Given the description of an element on the screen output the (x, y) to click on. 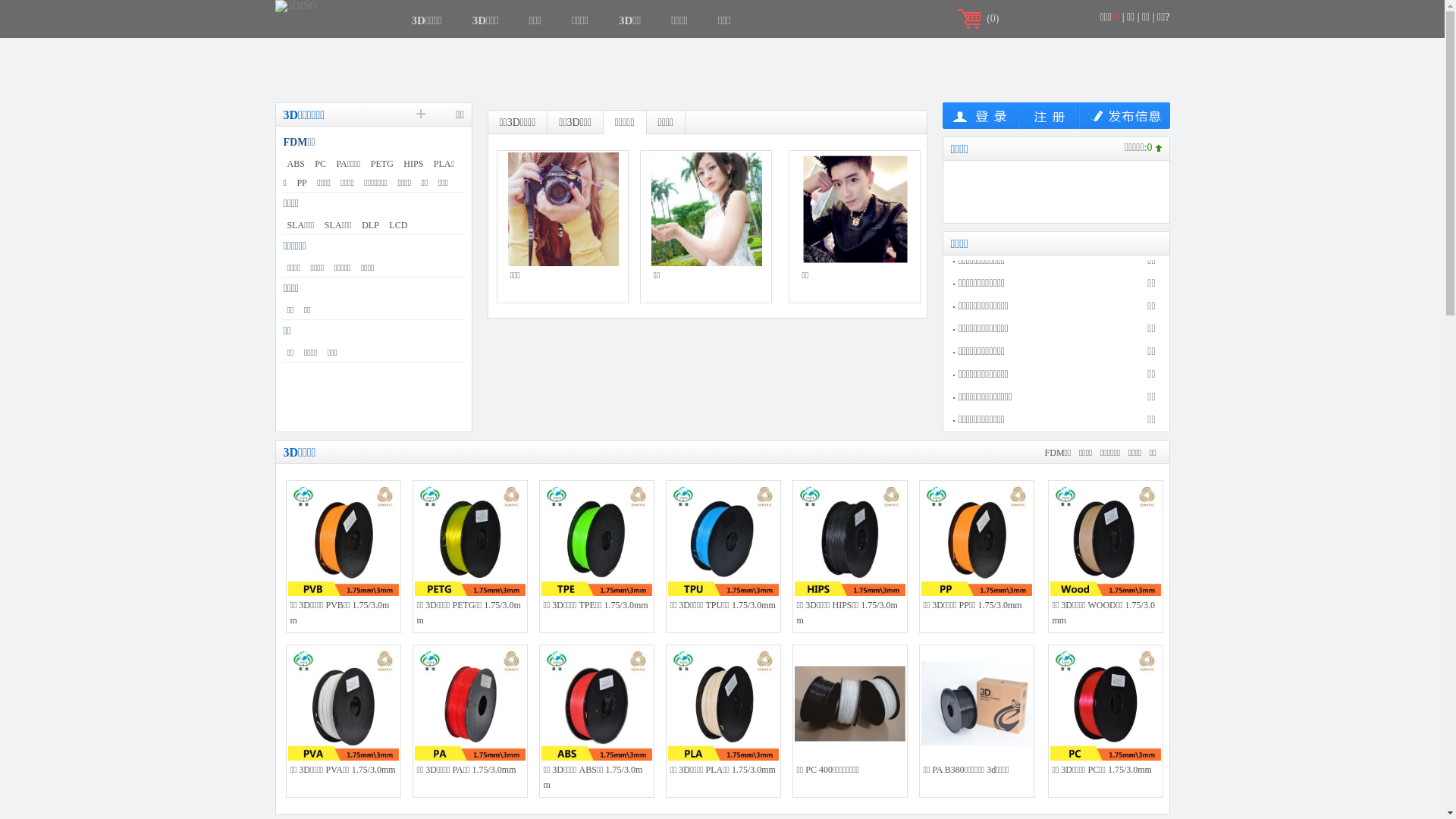
(0) Element type: text (992, 18)
LCD Element type: text (398, 224)
ABS Element type: text (295, 163)
PC Element type: text (319, 163)
HIPS Element type: text (412, 163)
HORI MR300+ Element type: text (705, 278)
PP Element type: text (301, 182)
PETG Element type: text (382, 163)
DLP Element type: text (369, 224)
